Given the description of an element on the screen output the (x, y) to click on. 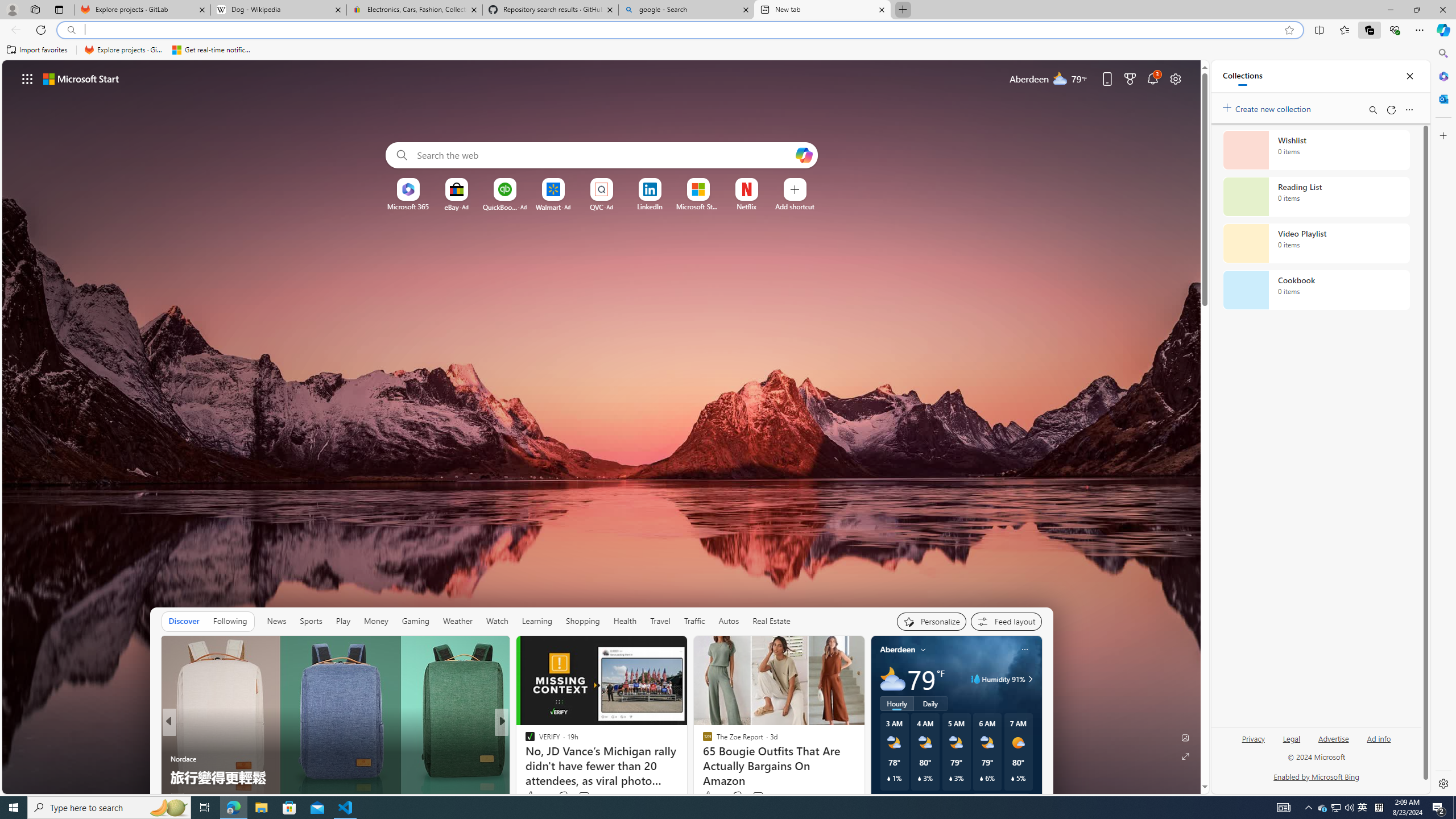
View comments 18 Comment (580, 797)
Dog - Wikipedia (277, 9)
View comments 12 Comment (576, 797)
Expand background (1185, 756)
View comments 1 Comment (572, 797)
Personalize your feed" (931, 621)
1k Like (530, 796)
Autos (728, 621)
Swim Skirts Are Summer's Most Nostalgic Trend (684, 777)
6 Like (529, 796)
